Given the description of an element on the screen output the (x, y) to click on. 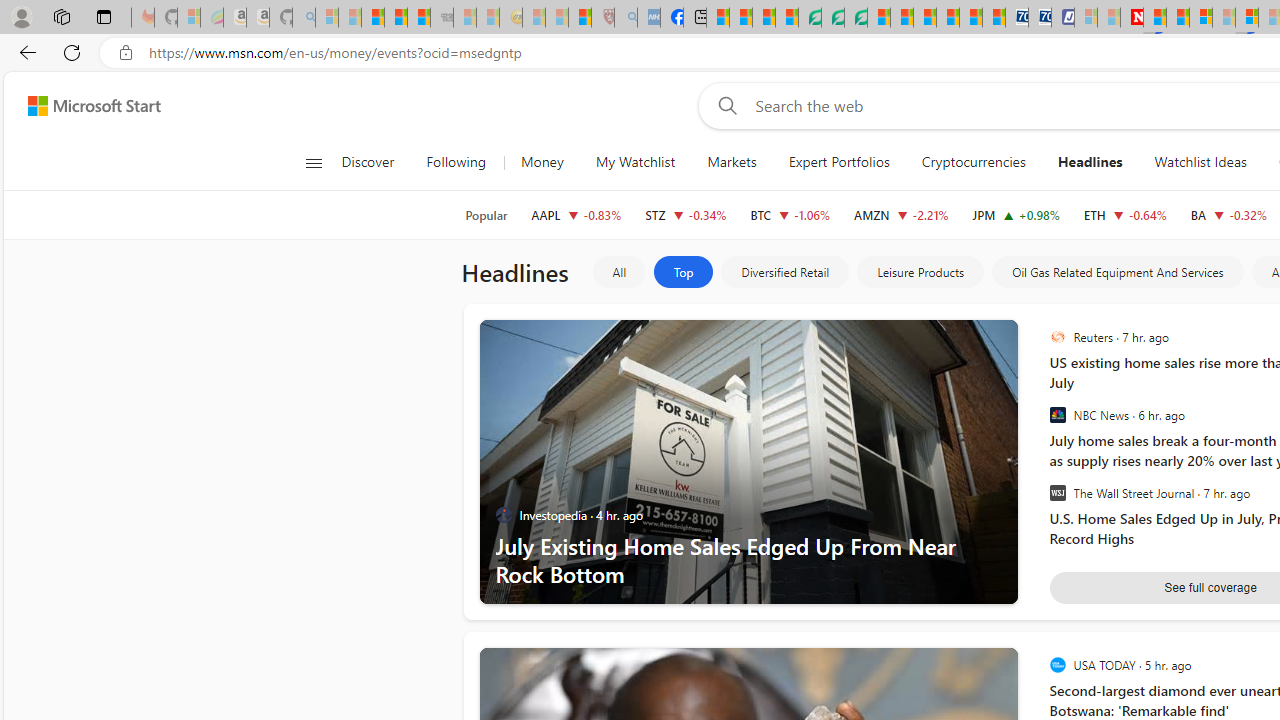
USA TODAY (1057, 664)
Trusted Community Engagement and Contributions | Guidelines (1155, 17)
Leisure Products (921, 272)
Web search (724, 105)
Following (457, 162)
Expert Portfolios (838, 162)
Following (456, 162)
Cryptocurrencies (973, 162)
Watchlist Ideas (1200, 162)
